Given the description of an element on the screen output the (x, y) to click on. 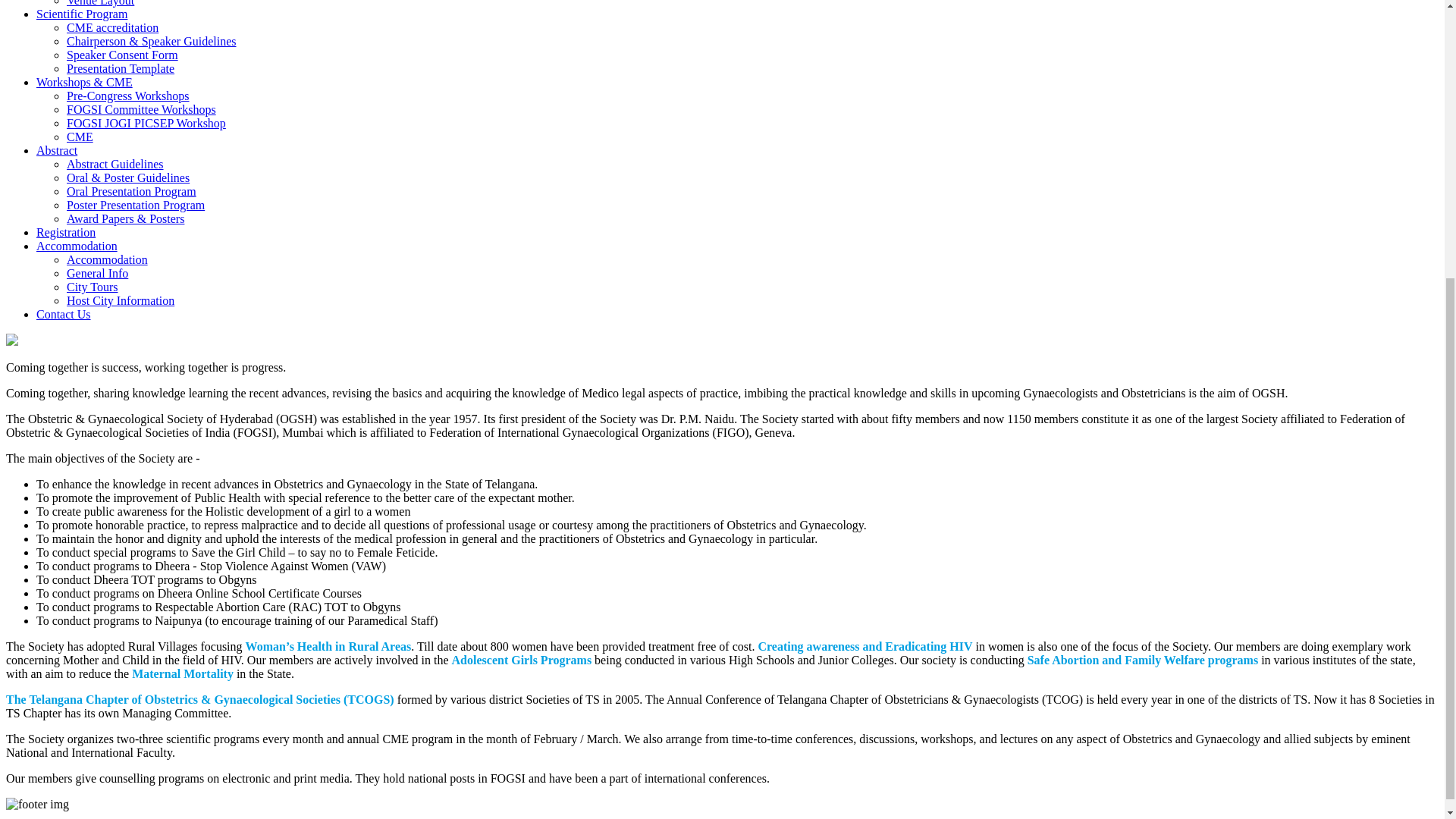
Venue Layout (99, 3)
FOGSI Committee Workshops (140, 109)
Abstract (56, 150)
Pre-Congress Workshops (127, 95)
CME (79, 136)
CME accreditation (112, 27)
FOGSI JOGI PICSEP Workshop (145, 123)
Scientific Program (82, 13)
Presentation Template (120, 68)
Speaker Consent Form (121, 54)
